Given the description of an element on the screen output the (x, y) to click on. 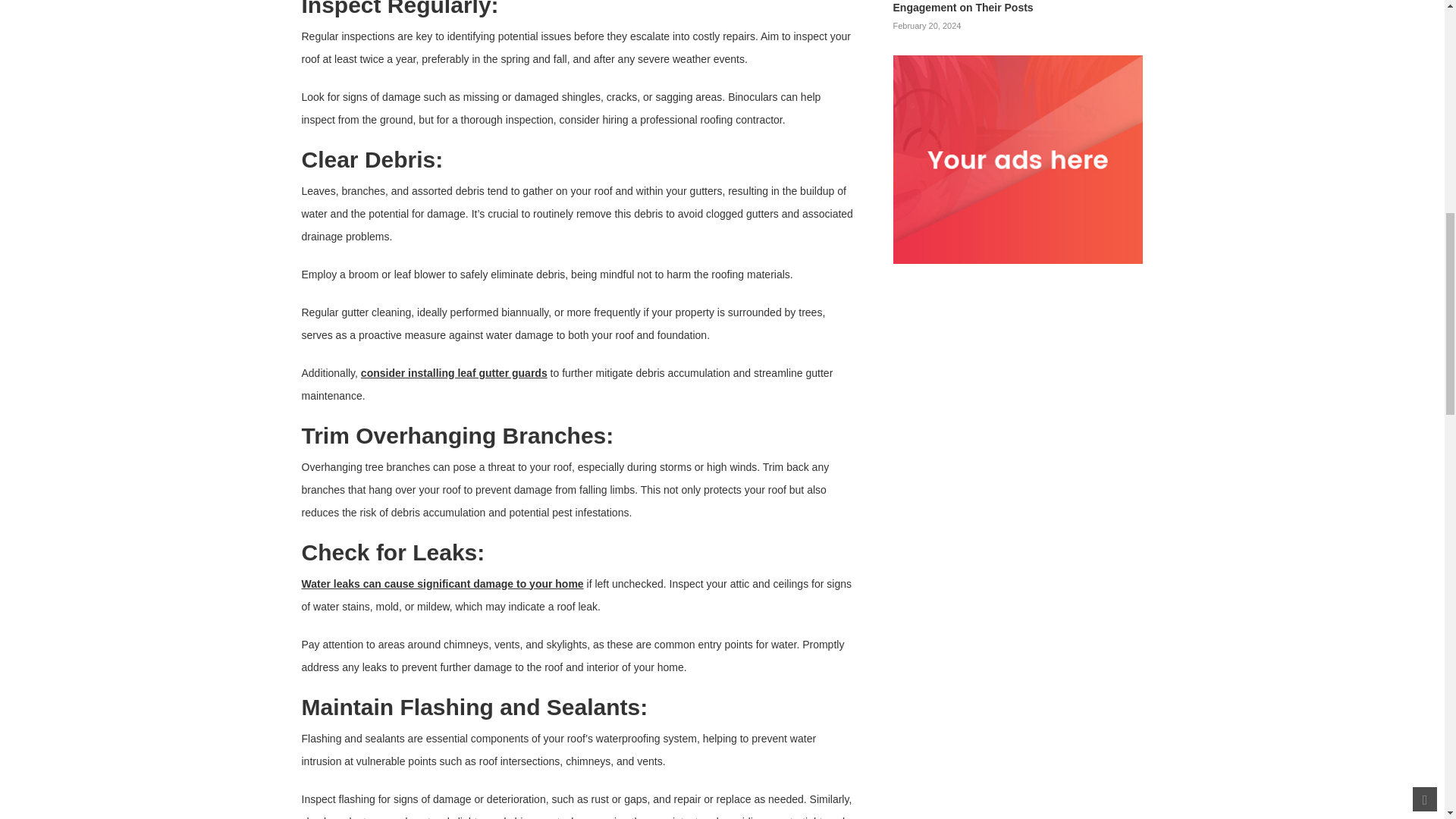
Water leaks can cause significant damage to your home (442, 583)
consider installing leaf gutter guards (454, 372)
